Given the description of an element on the screen output the (x, y) to click on. 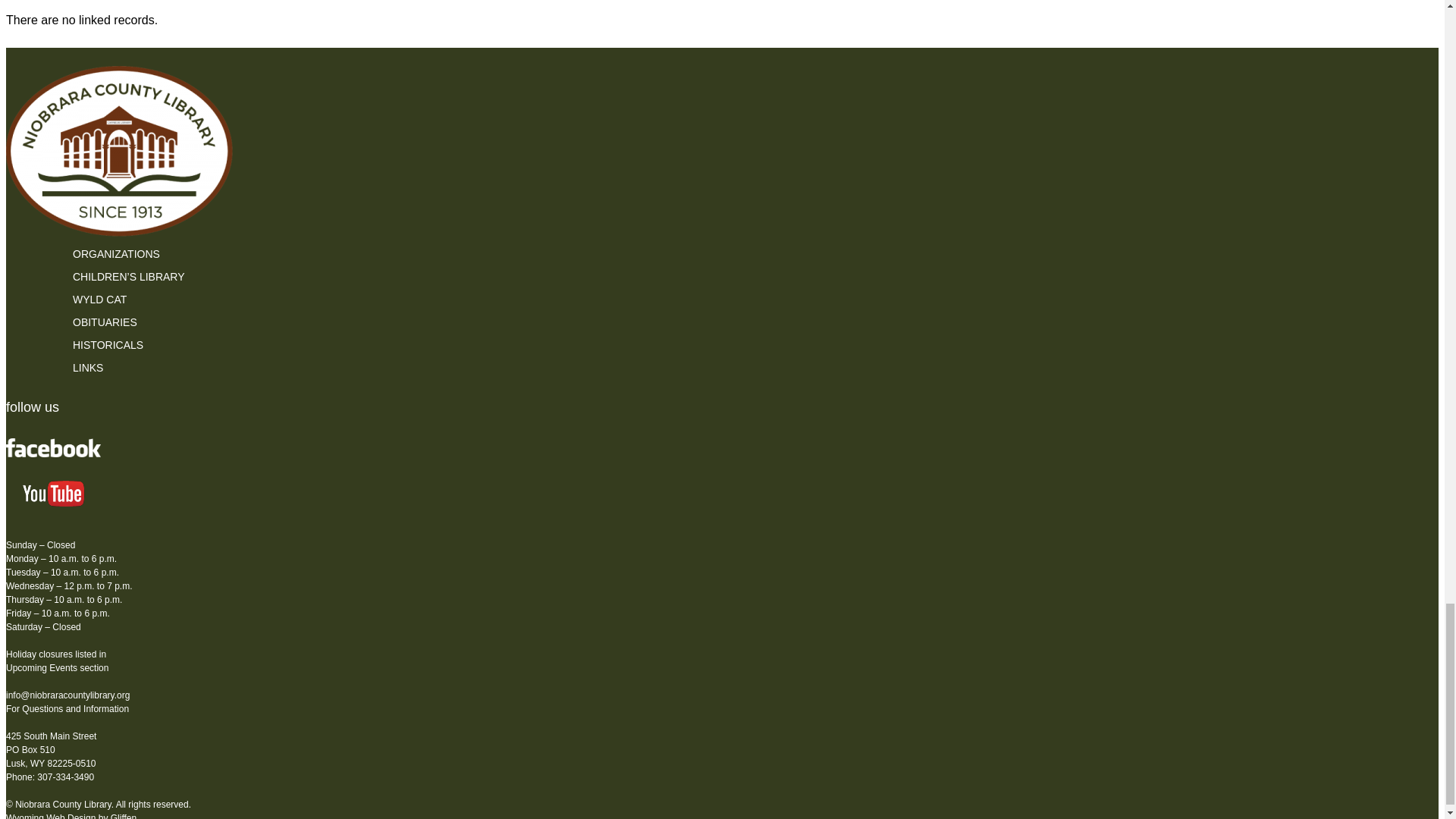
ORGANIZATIONS (116, 254)
OBITUARIES (104, 322)
WYLD CAT (99, 299)
